Given the description of an element on the screen output the (x, y) to click on. 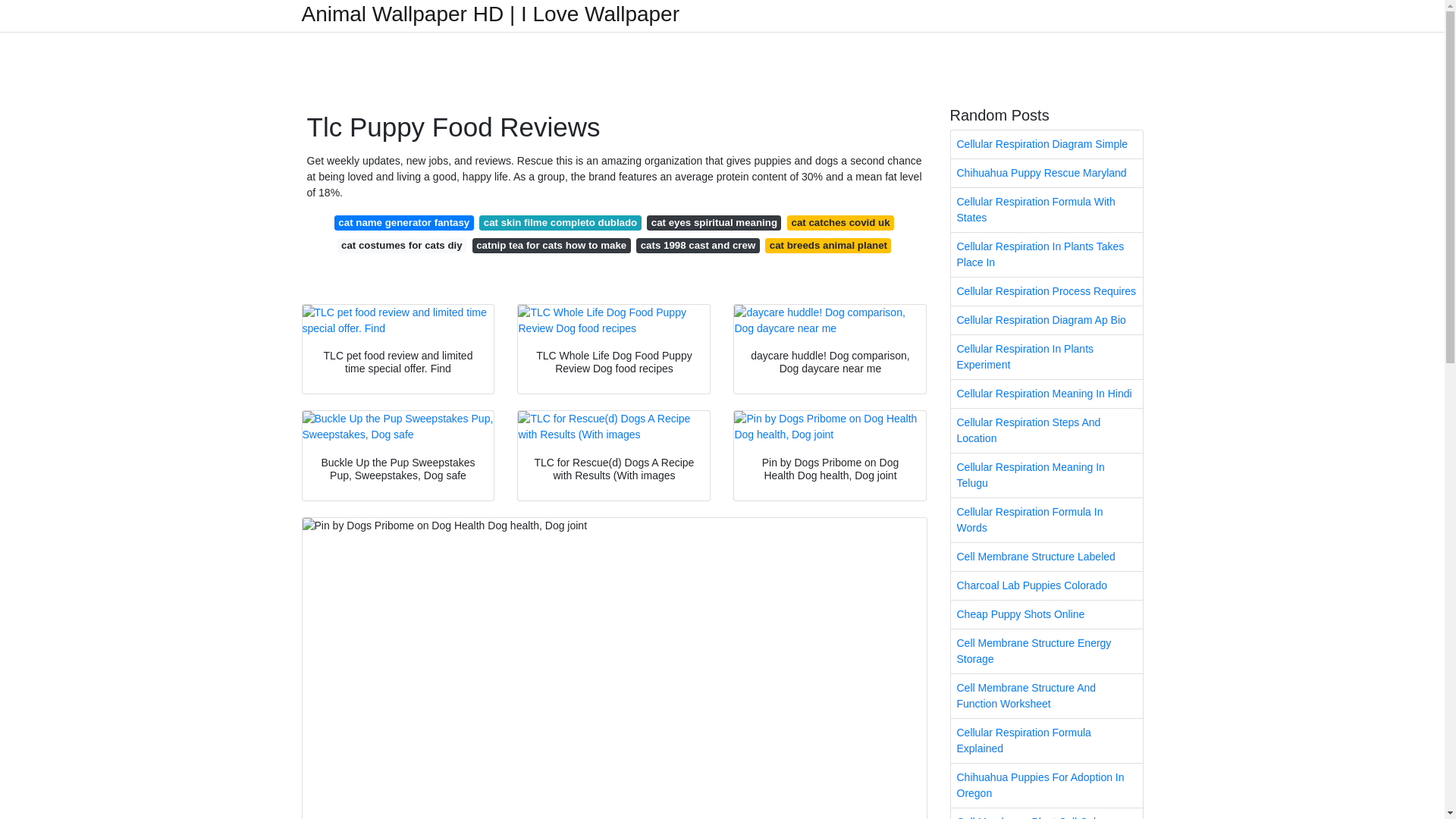
Cellular Respiration Diagram Simple (1046, 144)
Cellular Respiration In Plants Takes Place In (1046, 254)
Cellular Respiration Steps And Location (1046, 430)
cat eyes spiritual meaning (713, 222)
cat name generator fantasy (404, 222)
cat breeds animal planet (828, 245)
cats 1998 cast and crew (697, 245)
Cellular Respiration In Plants Experiment (1046, 356)
cat skin filme completo dublado (559, 222)
cat costumes for cats diy (401, 245)
Chihuahua Puppy Rescue Maryland (1046, 172)
Cellular Respiration Formula In Words (1046, 519)
Cellular Respiration Process Requires (1046, 291)
cat catches covid uk (840, 222)
catnip tea for cats how to make (550, 245)
